Given the description of an element on the screen output the (x, y) to click on. 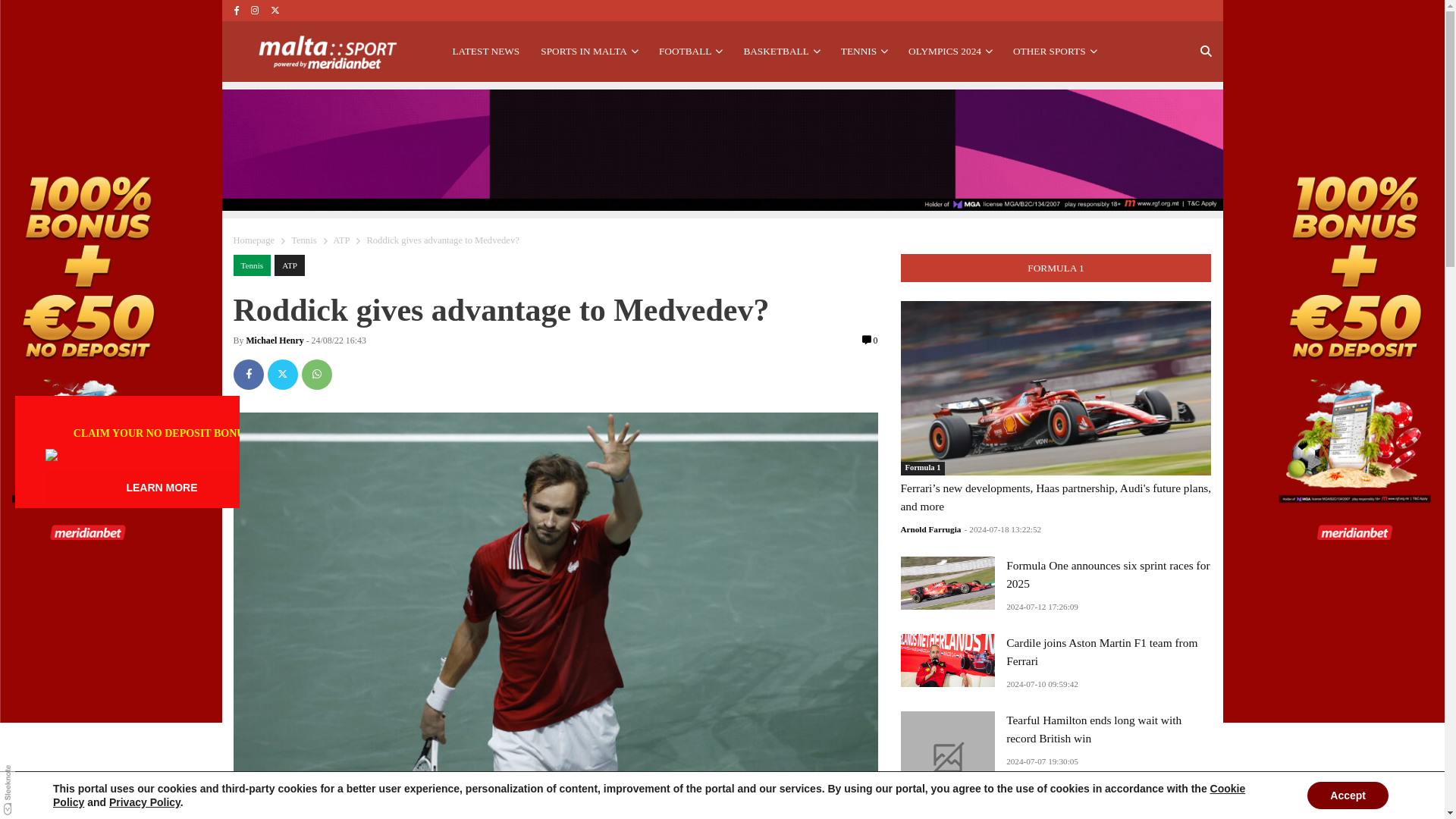
LATEST NEWS (485, 51)
SPORTS IN MALTA (588, 51)
FOOTBALL (689, 51)
BASKETBALL (780, 51)
